Given the description of an element on the screen output the (x, y) to click on. 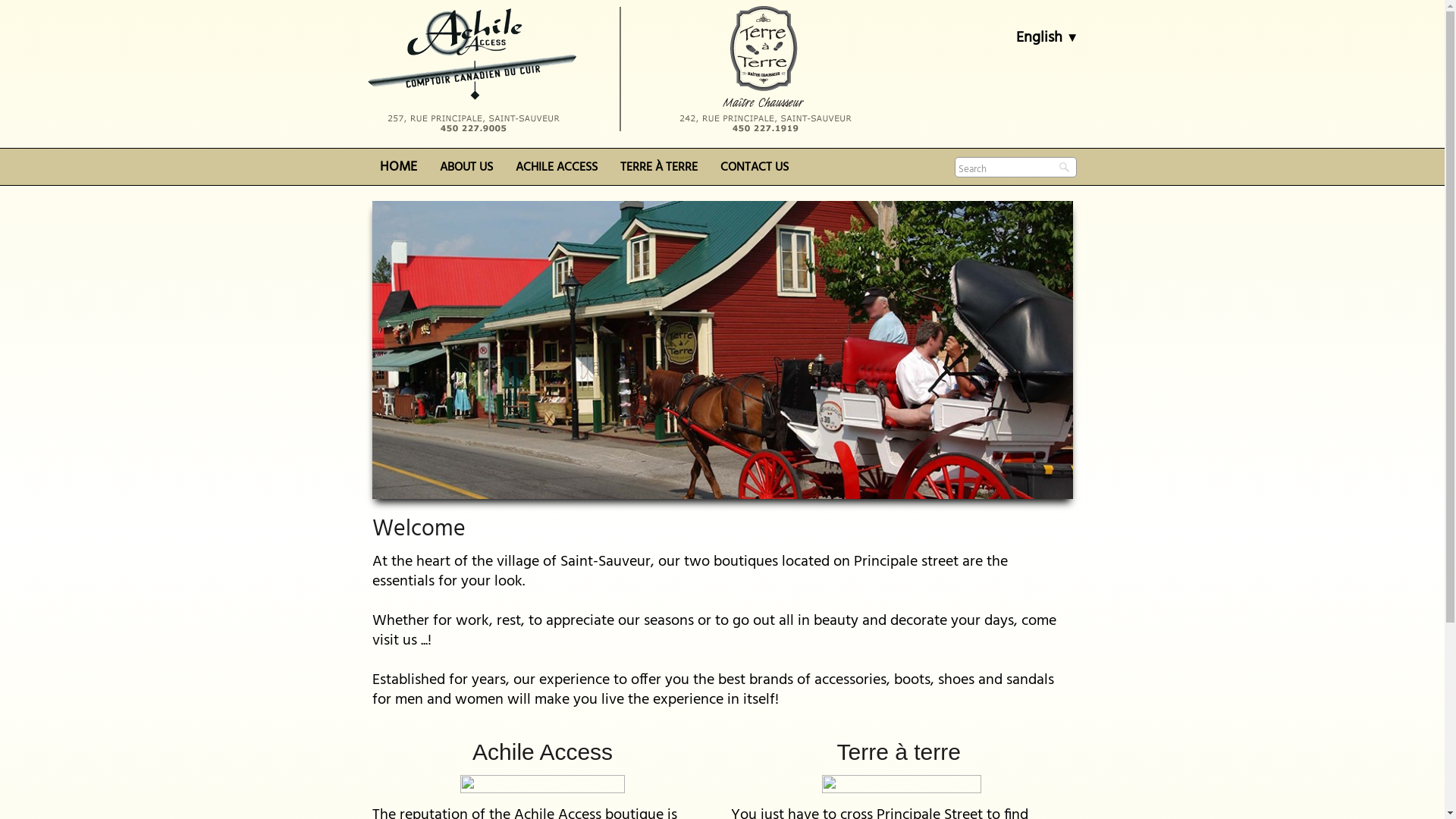
ACHILE ACCESS Element type: text (555, 164)
HOME Element type: text (398, 164)
CONTACT US Element type: text (753, 164)
ABOUT US Element type: text (465, 164)
